Given the description of an element on the screen output the (x, y) to click on. 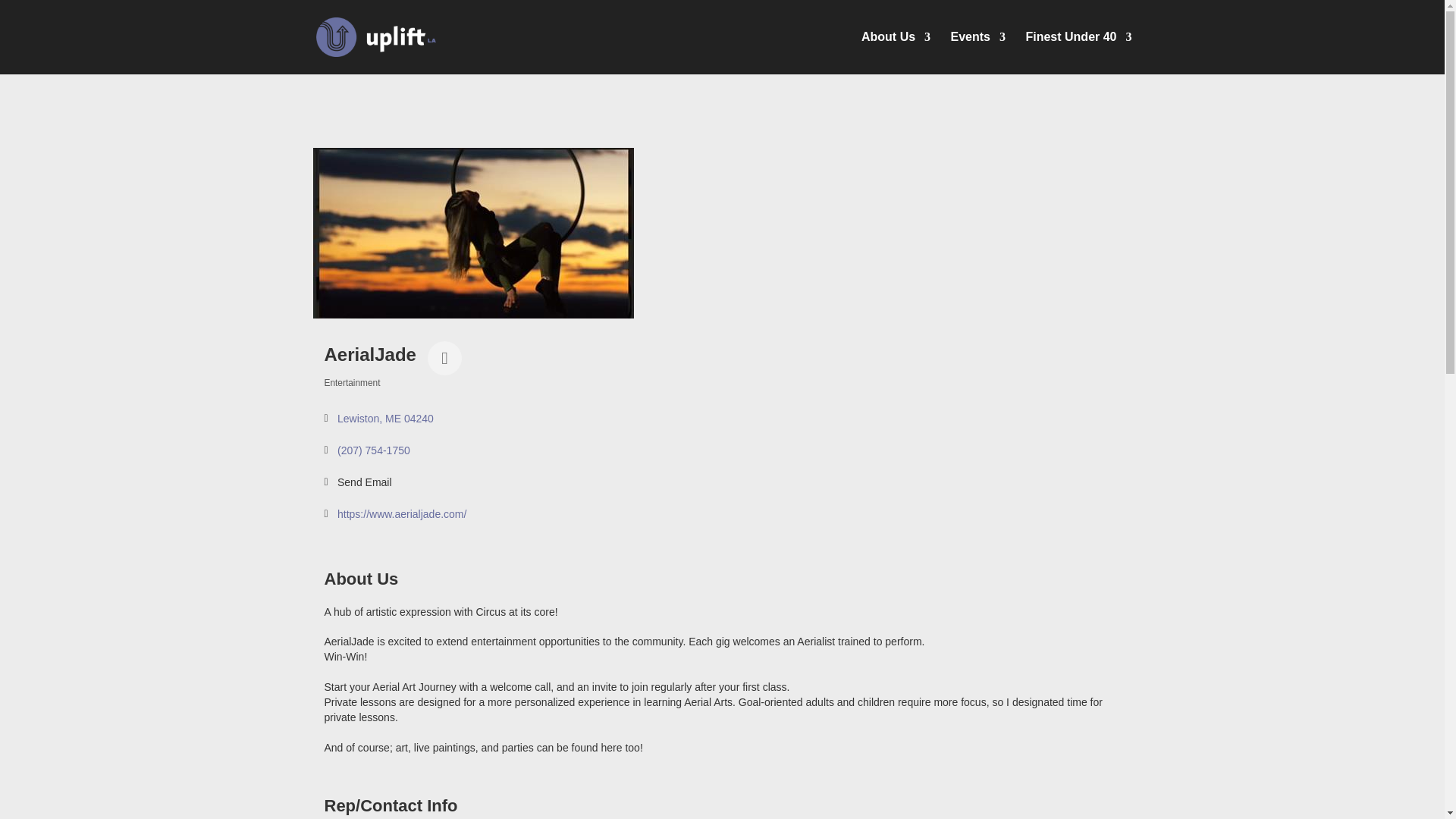
Events (978, 52)
AerialJade (473, 233)
About Us (895, 52)
Send Email (364, 481)
Lewiston ME 04240 (385, 418)
Finest Under 40 (1078, 52)
